Given the description of an element on the screen output the (x, y) to click on. 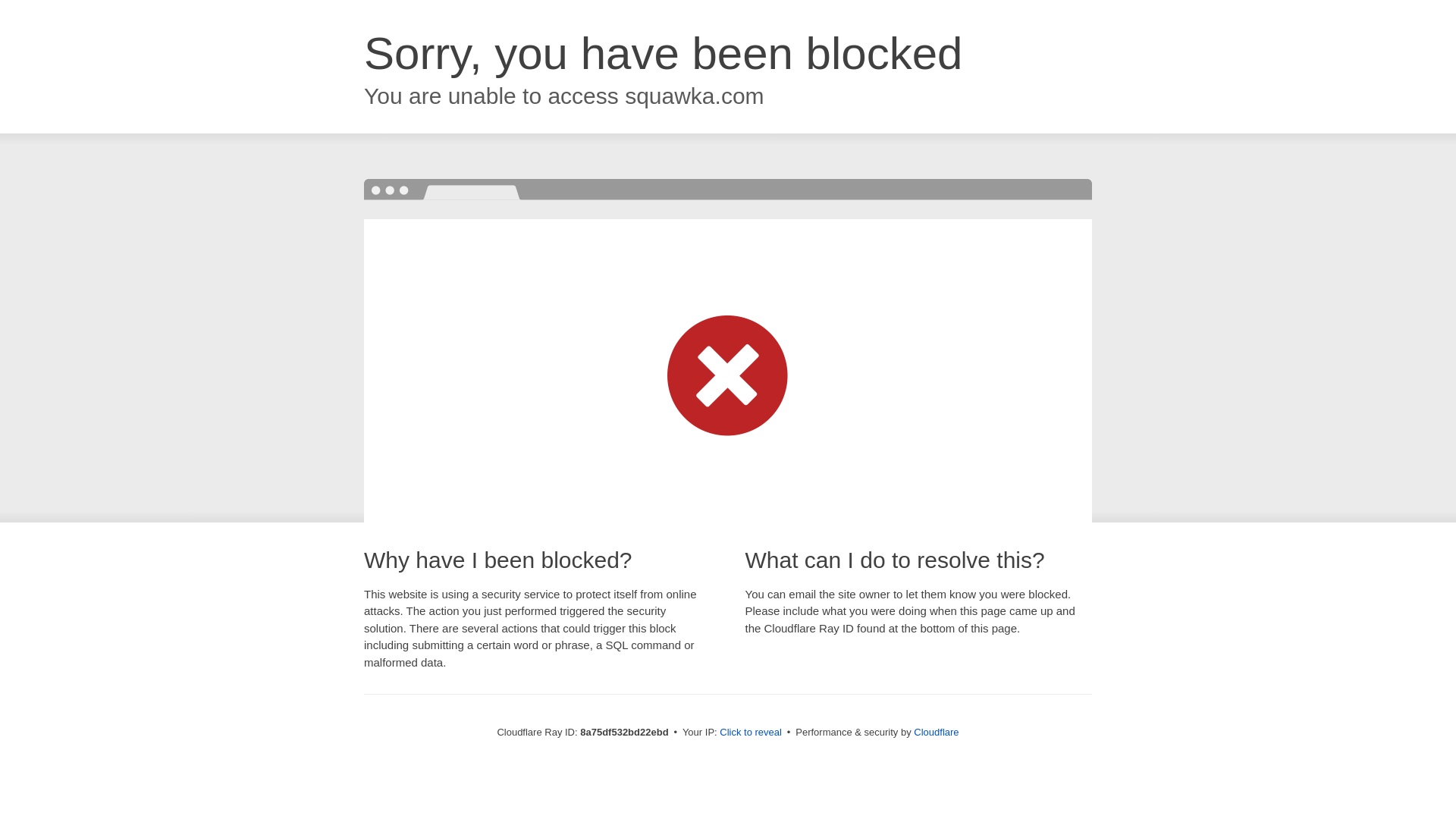
Cloudflare (936, 731)
Click to reveal (750, 732)
